Given the description of an element on the screen output the (x, y) to click on. 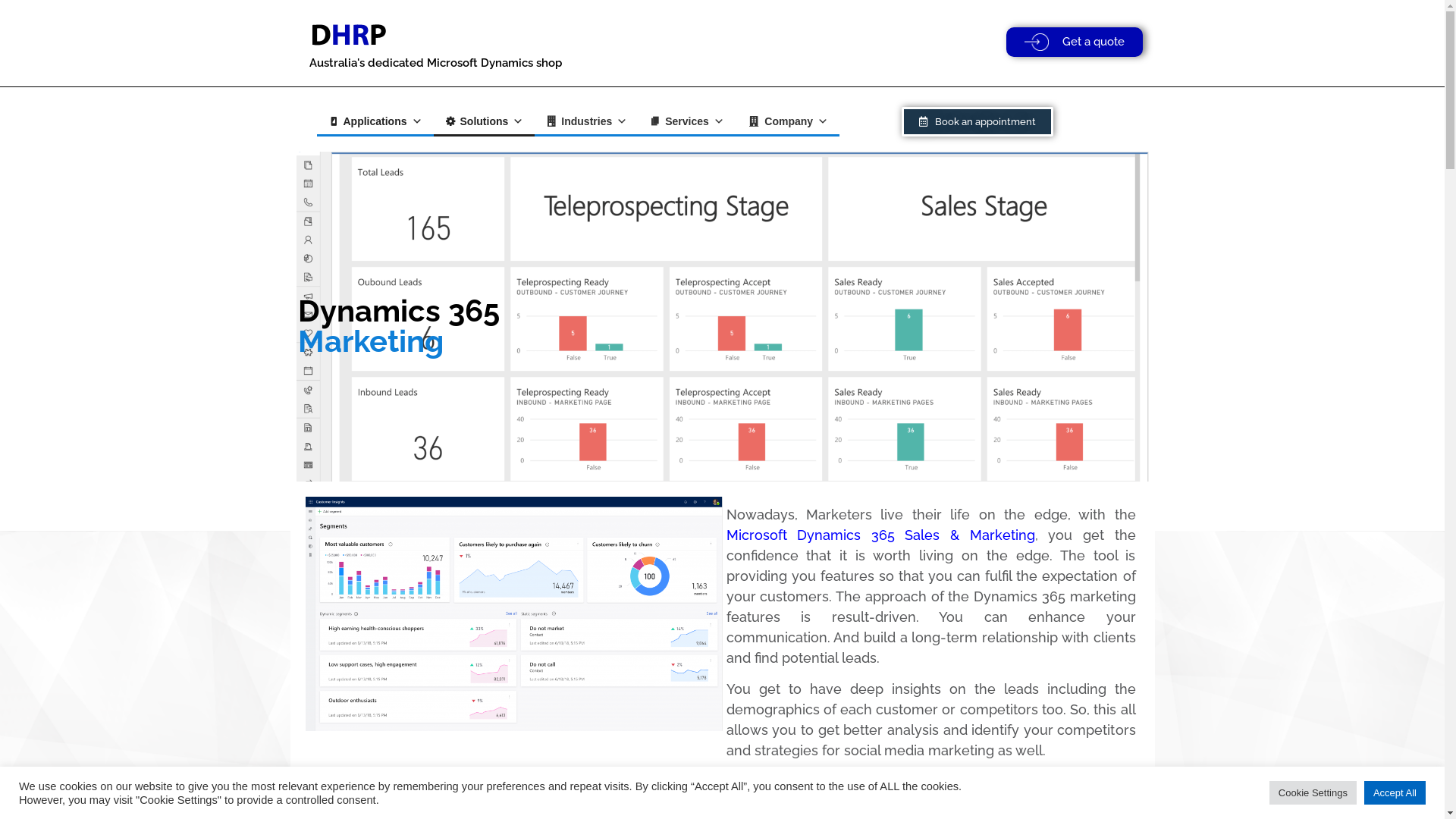
Solutions Element type: text (484, 121)
Cookie Settings Element type: text (1312, 792)
Accept All Element type: text (1394, 792)
Industries Element type: text (586, 121)
Book an appointment Element type: text (977, 121)
Microsoft Dynamics 365 Sales & Marketing Element type: text (880, 534)
Services Element type: text (686, 121)
Applications Element type: text (374, 121)
Get a quote Element type: text (1074, 41)
Company Element type: text (787, 121)
